Given the description of an element on the screen output the (x, y) to click on. 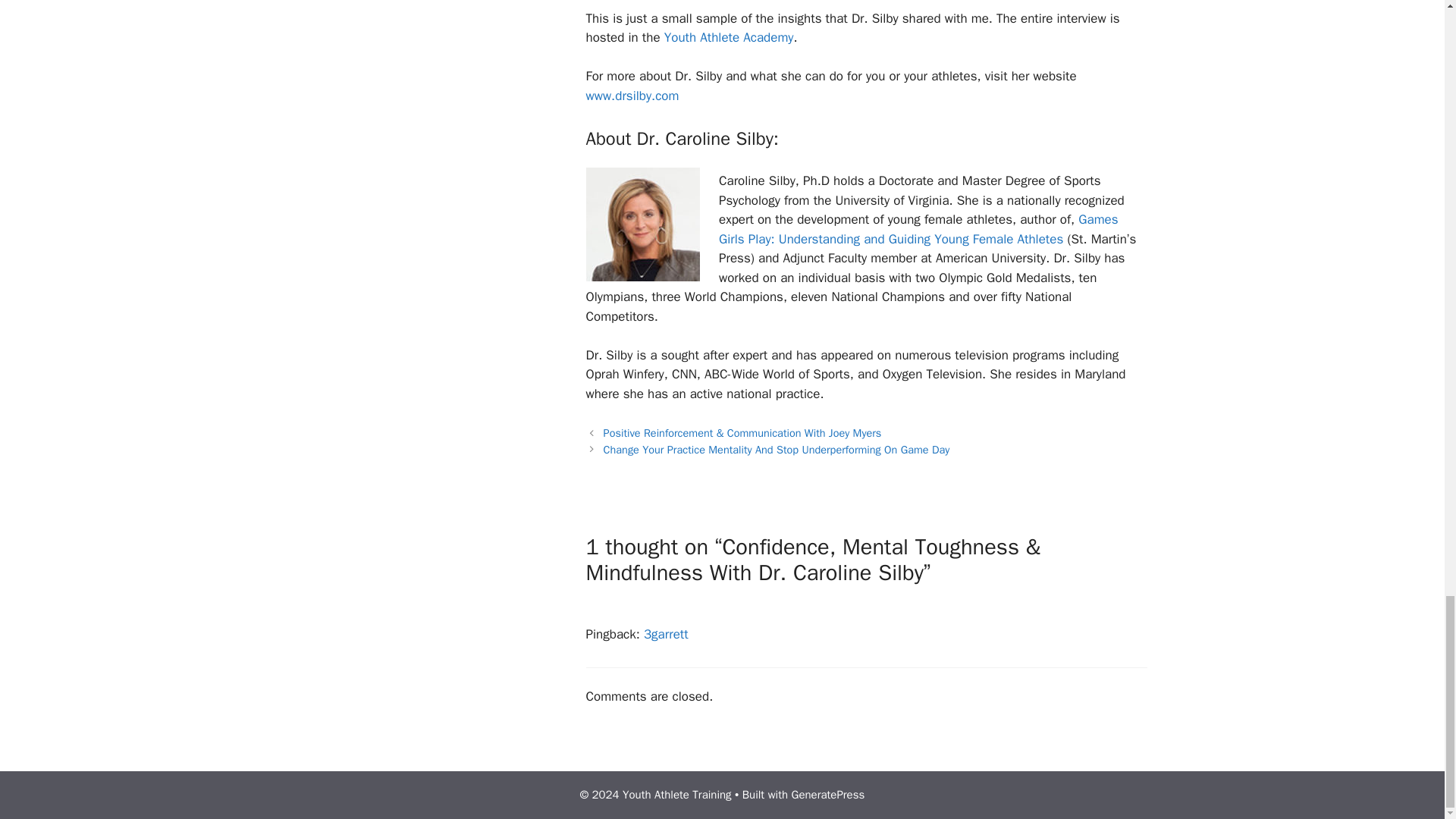
Next (777, 449)
Previous (743, 432)
3garrett (665, 634)
www.drsilby.com (631, 95)
Games Girls Play (918, 229)
GeneratePress (828, 794)
Youth Athlete Academy (728, 37)
